Given the description of an element on the screen output the (x, y) to click on. 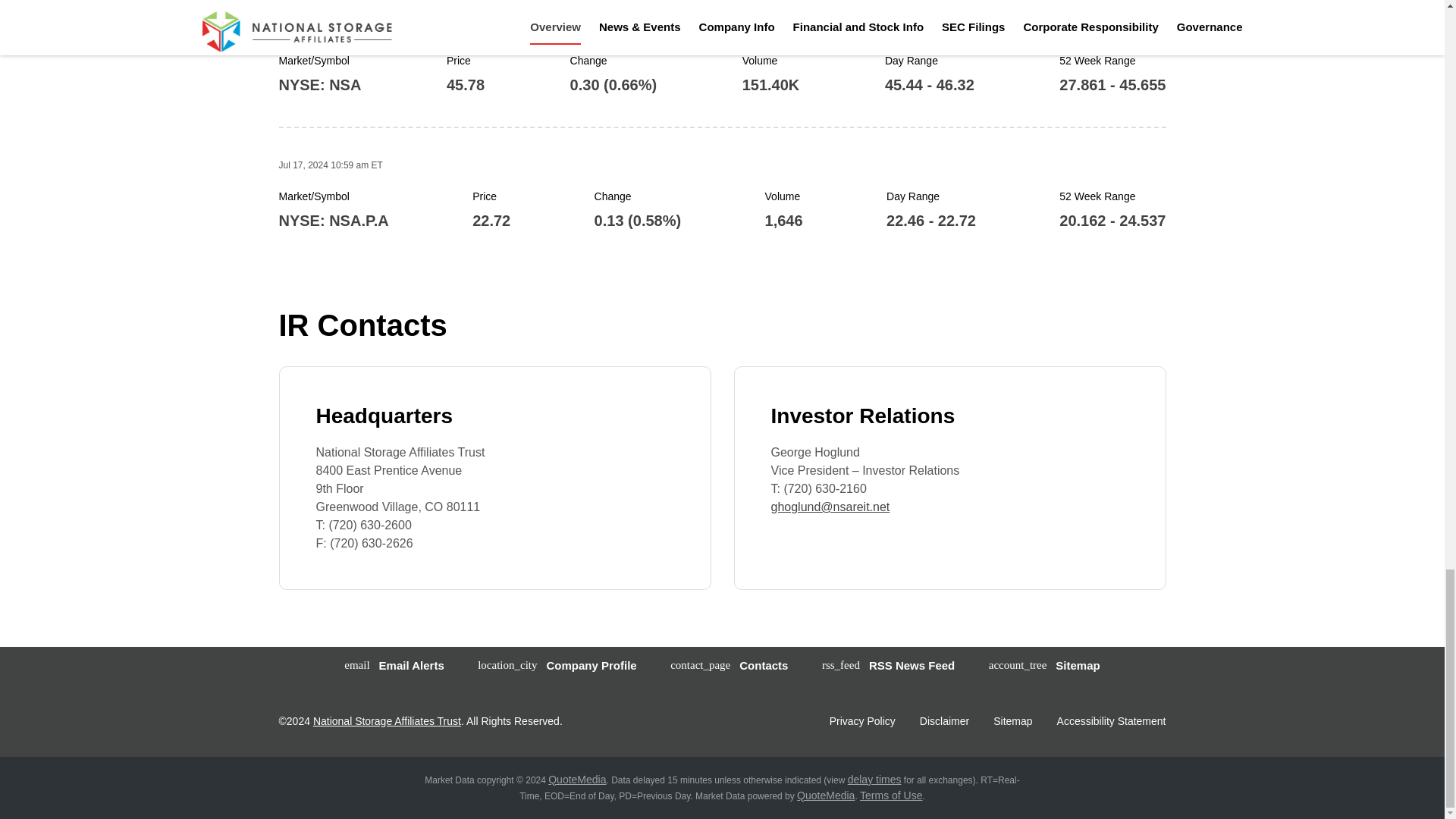
Opens in a new window (862, 720)
Footer Navigation (949, 720)
Opens in a new window (576, 779)
Opens in a new window (825, 795)
Opens in a new window (874, 779)
Opens in a new window (890, 795)
